Given the description of an element on the screen output the (x, y) to click on. 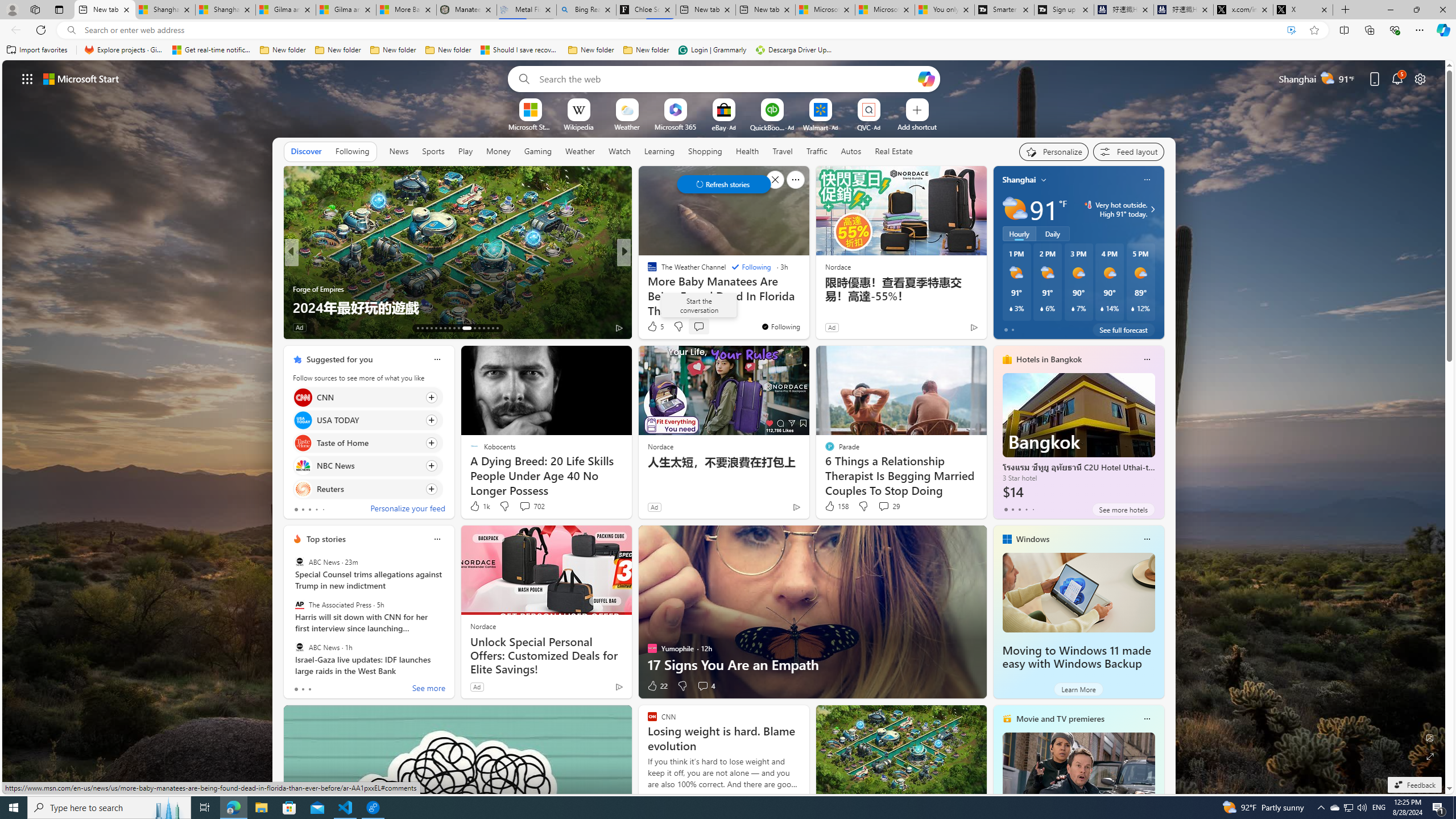
Gilma and Hector both pose tropical trouble for Hawaii (346, 9)
Suggested for you (338, 359)
Watch (619, 151)
See more hotels (1123, 509)
View comments 19 Comment (707, 327)
Gaming (537, 151)
News (398, 151)
Traffic (816, 151)
My location (1043, 179)
AutomationID: tab-13 (417, 328)
Click to follow source CNN (367, 397)
tab-0 (295, 689)
